Given the description of an element on the screen output the (x, y) to click on. 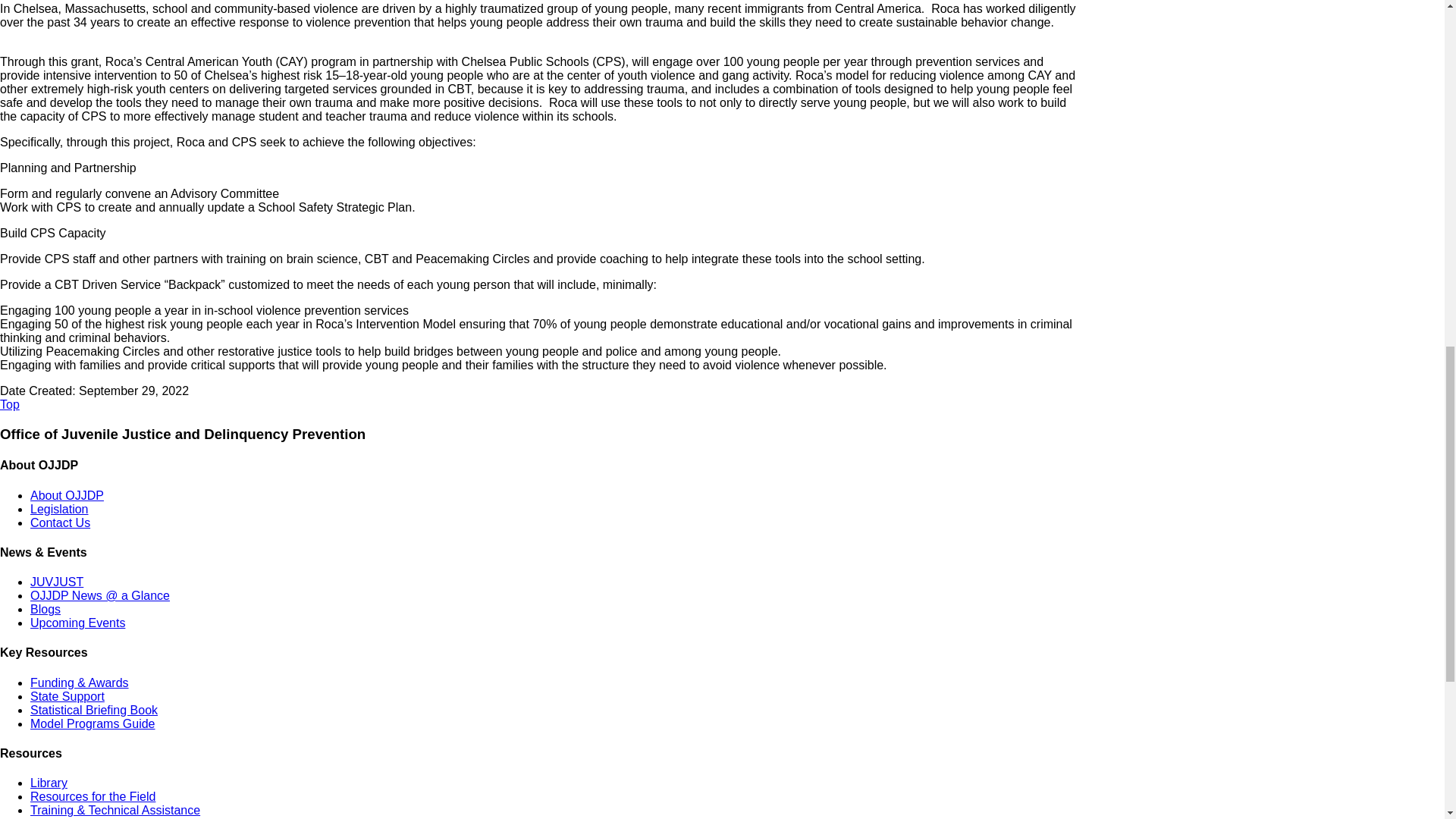
Contact Us (60, 522)
Legislation (59, 508)
Top (10, 404)
About OJJDP (66, 495)
